Given the description of an element on the screen output the (x, y) to click on. 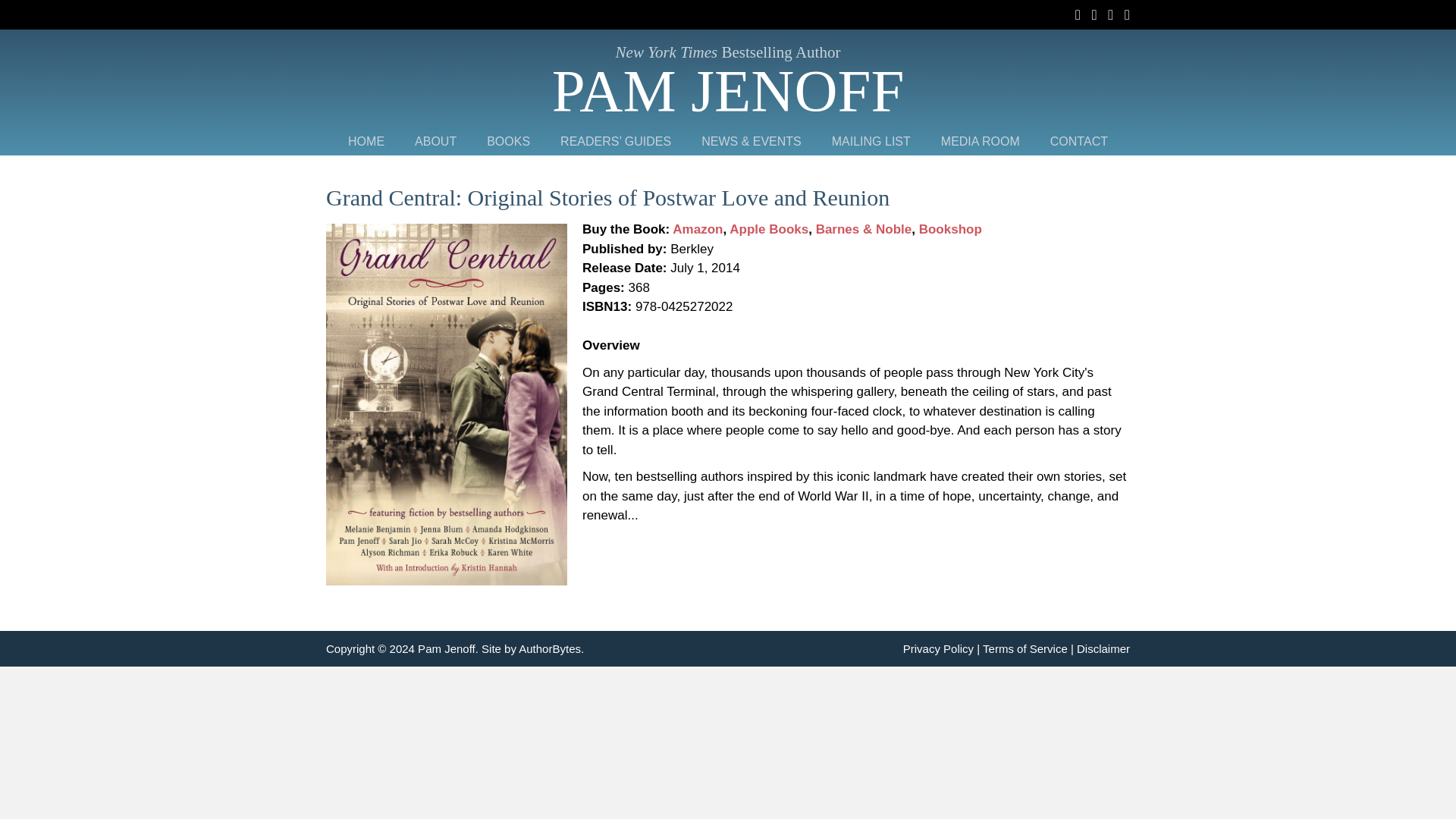
MEDIA ROOM (980, 141)
BOOKS (507, 141)
Disclaimer (1103, 648)
HOME (365, 141)
Terms of Service (1024, 648)
ABOUT (434, 141)
Bookshop (949, 228)
MAILING LIST (871, 141)
Apple Books (768, 228)
Pam Jenoff (727, 90)
